Given the description of an element on the screen output the (x, y) to click on. 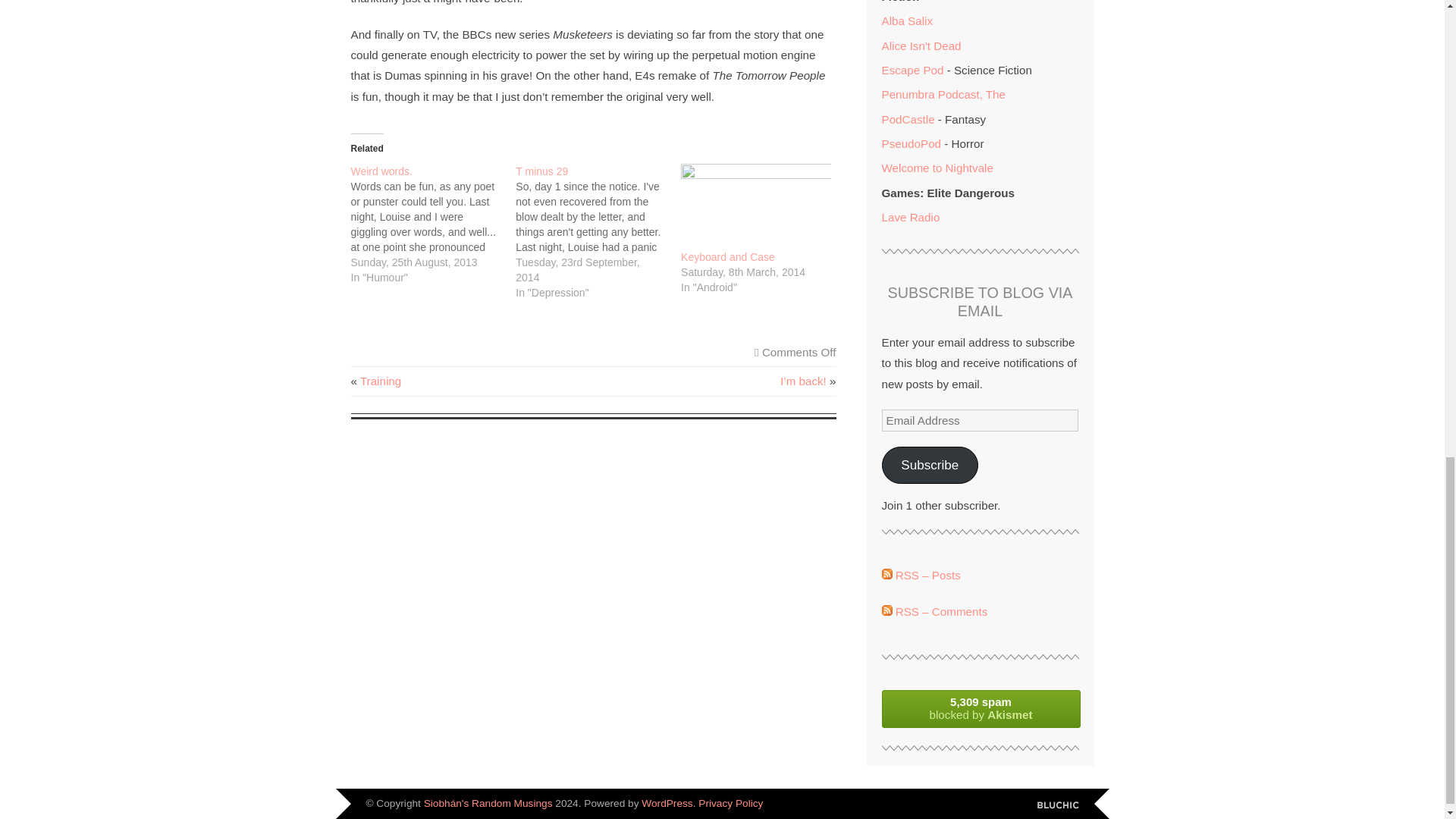
Keyboard and Case (756, 206)
Weird words. (432, 224)
Keyboard and Case (727, 256)
Subscribe to posts (919, 574)
Keyboard and Case (727, 256)
Theme designed by BluChic (1057, 805)
Weird words. (381, 171)
Weird words. (381, 171)
Training (380, 380)
Subscribe to comments (933, 611)
T minus 29 (541, 171)
T minus 29 (598, 231)
T minus 29 (541, 171)
